Given the description of an element on the screen output the (x, y) to click on. 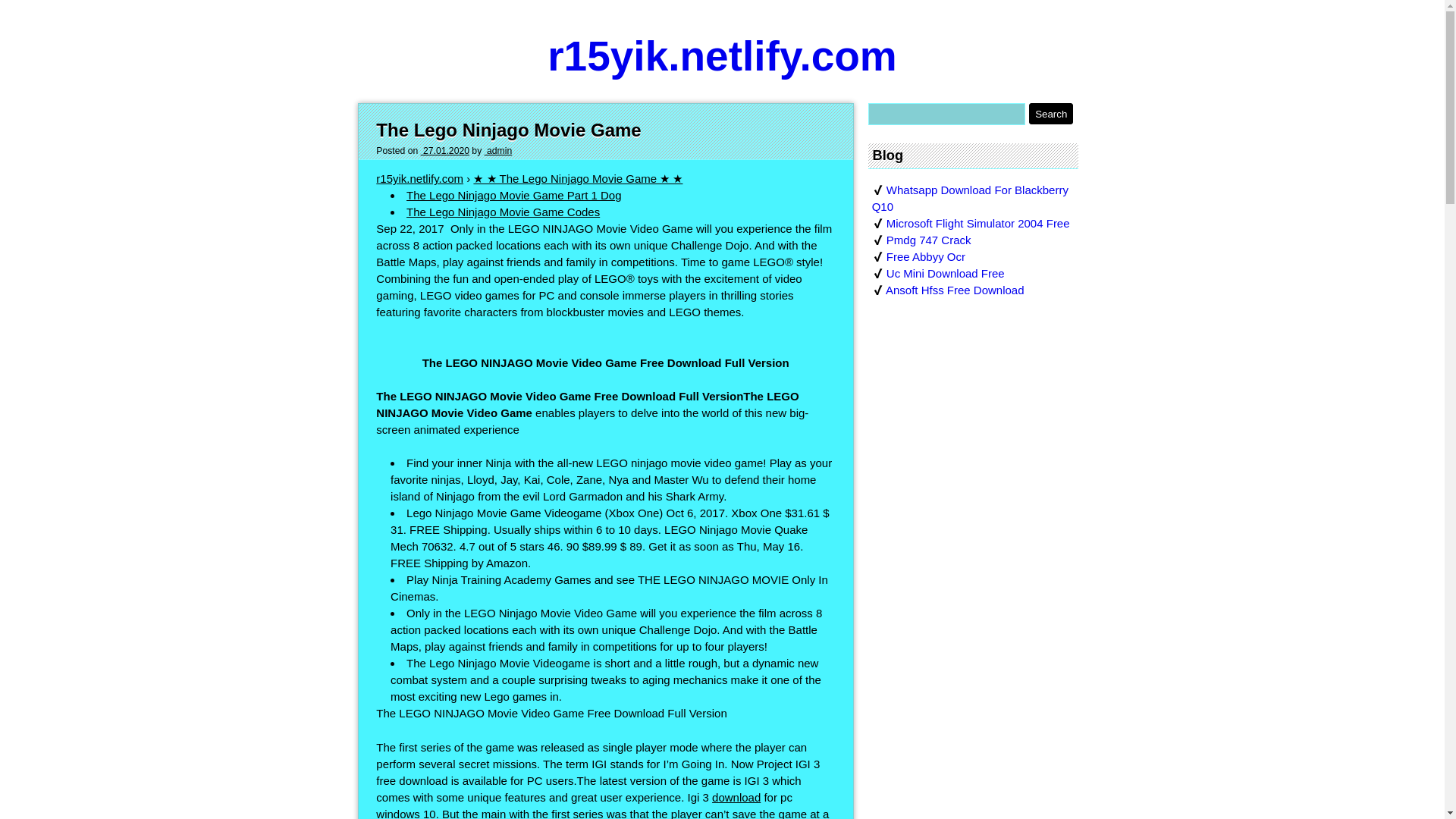
Microsoft Flight Simulator 2004 Free (978, 223)
r15yik.netlify.com (419, 178)
Uc Mini Download Free (945, 273)
The Lego Ninjago Movie Game Part 1 Dog (513, 195)
Search (1051, 113)
View all posts by admin (498, 150)
The Lego Ninjago Movie Game (507, 129)
The Lego Ninjago Movie Game Codes (502, 211)
download (735, 797)
r15yik.netlify.com (721, 55)
